Given the description of an element on the screen output the (x, y) to click on. 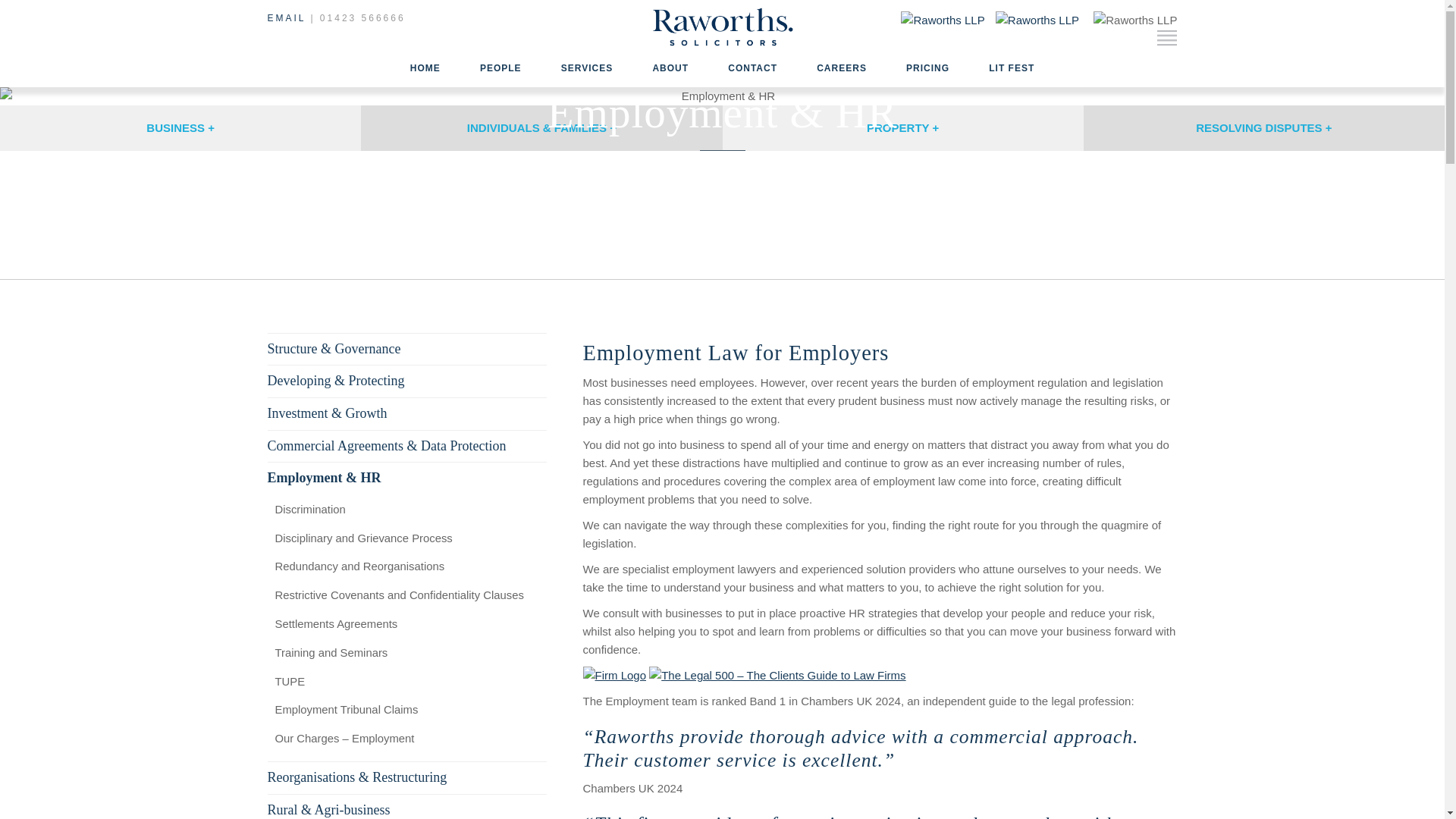
Home (721, 44)
BUSINESS (180, 127)
RESOLVING DISPUTES (1263, 127)
PRICING (928, 68)
CAREERS (841, 68)
CONTACT (752, 68)
LIT FEST (1002, 68)
PROPERTY (902, 127)
ABOUT (669, 68)
EMAIL (285, 18)
